Given the description of an element on the screen output the (x, y) to click on. 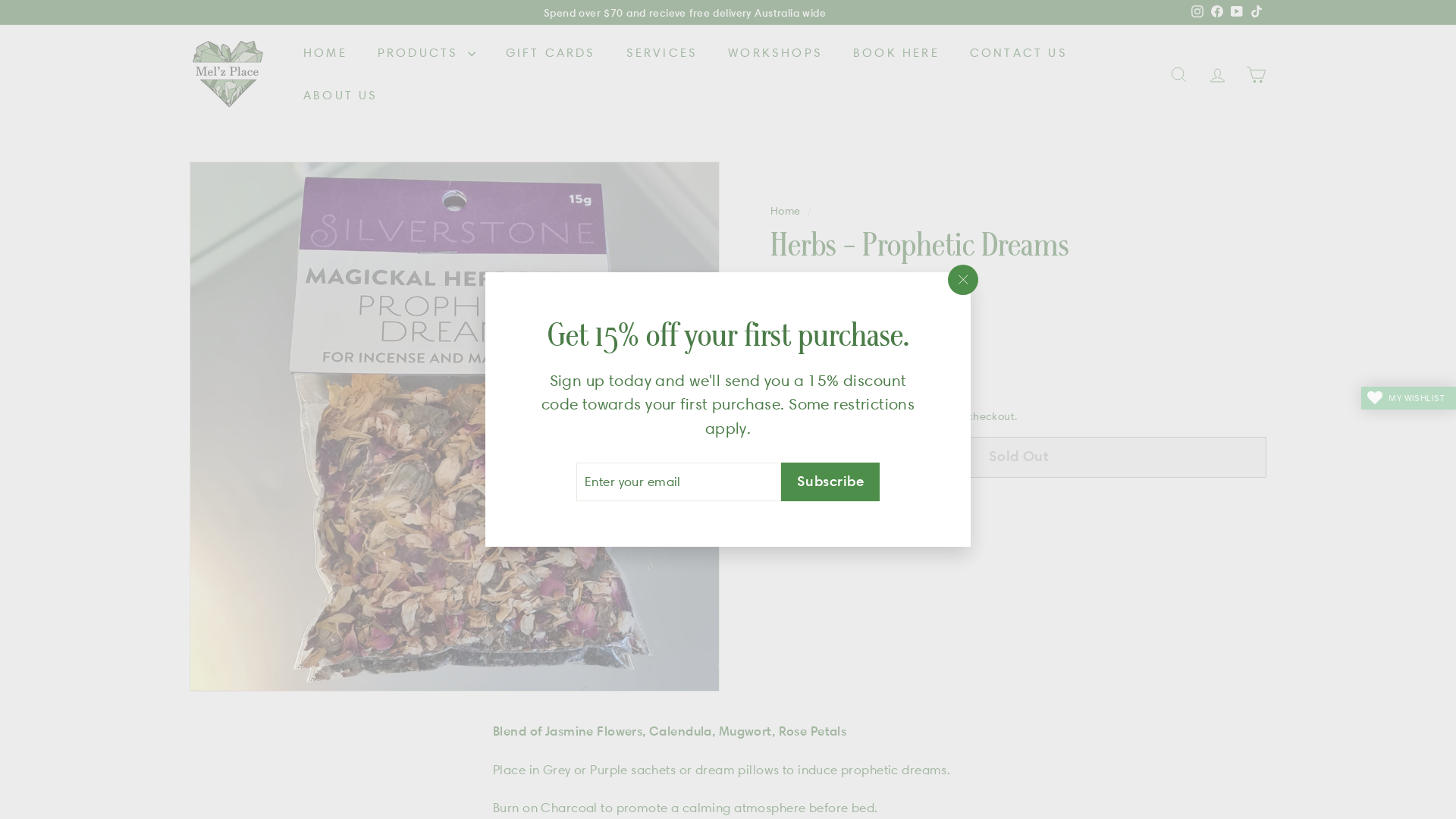
SEARCH Element type: text (1178, 73)
ABOUT US Element type: text (340, 95)
GIFT CARDS Element type: text (550, 52)
TikTok Element type: text (1256, 12)
instagram
Instagram Element type: text (1197, 12)
Sold Out Element type: text (1018, 456)
Home Element type: text (785, 210)
"Close (esc)" Element type: text (962, 279)
Subscribe Element type: text (830, 481)
Facebook Element type: text (1216, 12)
YouTube Element type: text (1236, 12)
HOME Element type: text (325, 52)
CONTACT US Element type: text (1018, 52)
ACCOUNT Element type: text (1217, 73)
WORKSHOPS Element type: text (774, 52)
SERVICES Element type: text (662, 52)
CART Element type: text (1255, 73)
Shipping Element type: text (865, 416)
BOOK HERE Element type: text (895, 52)
Mel'z Place Element type: text (803, 278)
